Given the description of an element on the screen output the (x, y) to click on. 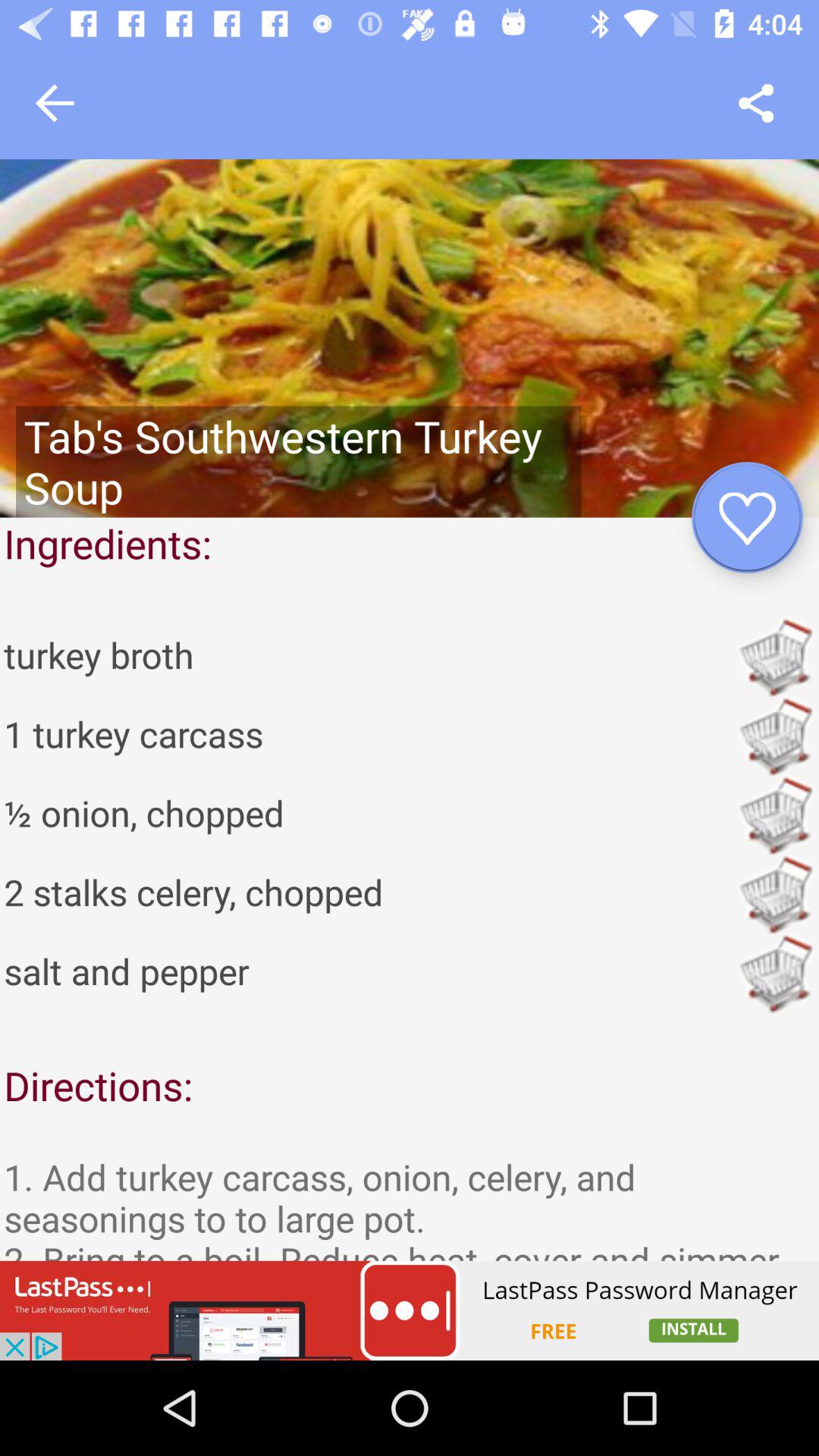
open advertisement (409, 1310)
